Given the description of an element on the screen output the (x, y) to click on. 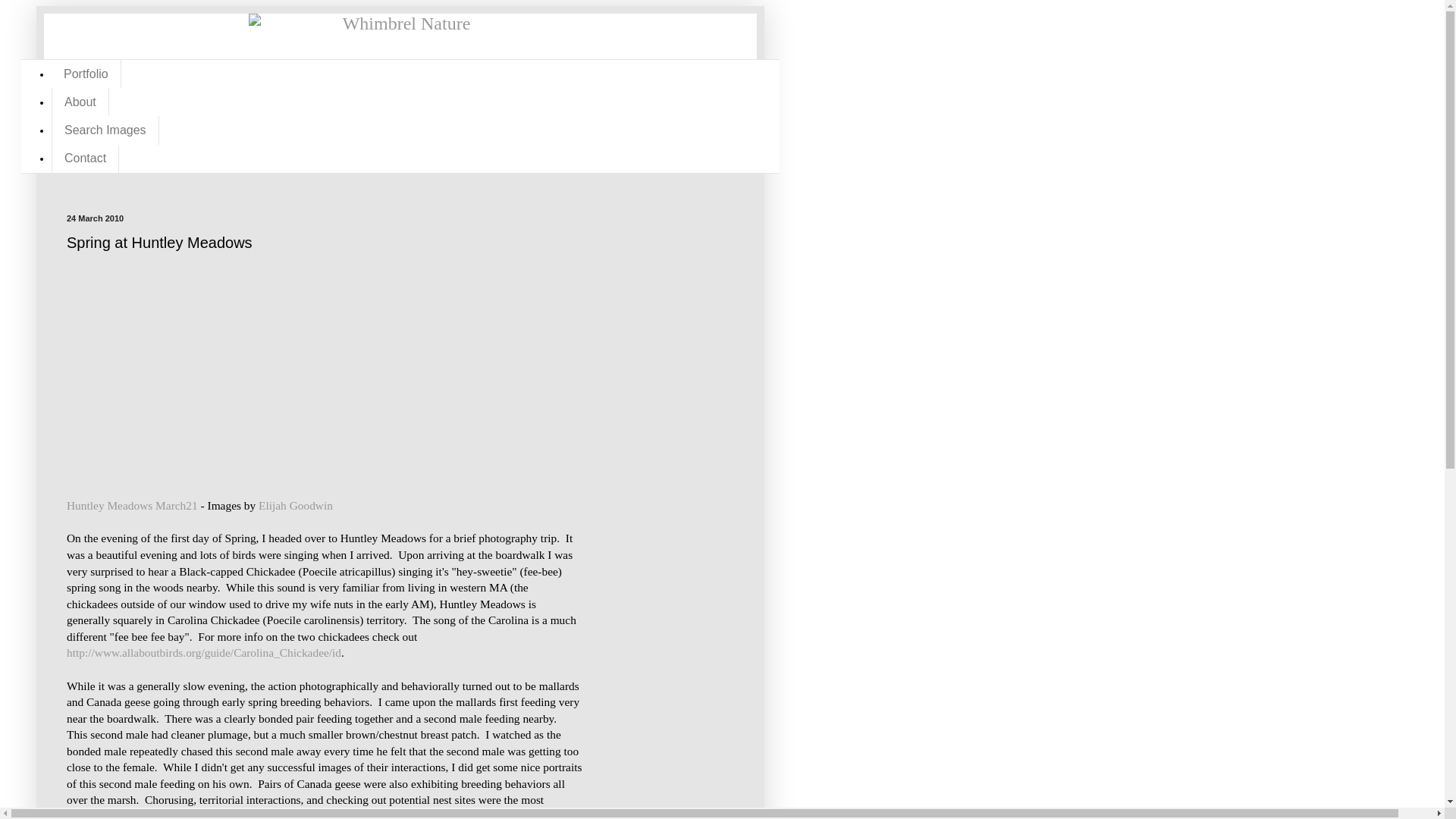
Contact (84, 158)
Huntley Meadows March21 (132, 504)
About (79, 101)
Search Images (104, 130)
Portfolio (85, 73)
Elijah Goodwin (296, 504)
